Given the description of an element on the screen output the (x, y) to click on. 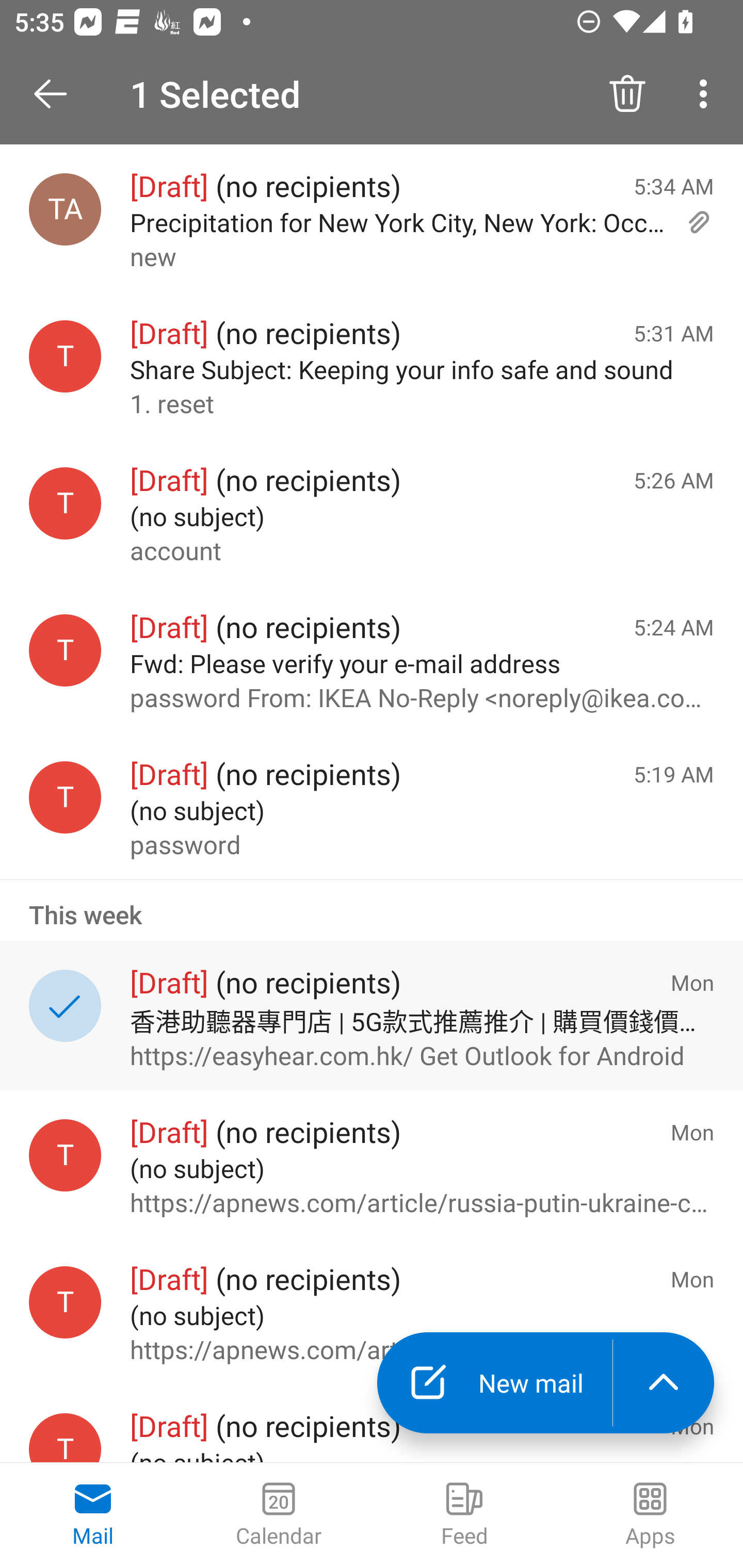
Delete (626, 93)
More options (706, 93)
Open Navigation Drawer (57, 94)
Test Appium, testappium002@outlook.com (64, 210)
testappium002@outlook.com (64, 355)
testappium002@outlook.com (64, 503)
testappium002@outlook.com (64, 650)
testappium002@outlook.com (64, 798)
testappium002@outlook.com (64, 1155)
testappium002@outlook.com (64, 1302)
New mail (494, 1382)
launch the extended action menu (663, 1382)
testappium002@outlook.com (64, 1437)
Calendar (278, 1515)
Feed (464, 1515)
Apps (650, 1515)
